Given the description of an element on the screen output the (x, y) to click on. 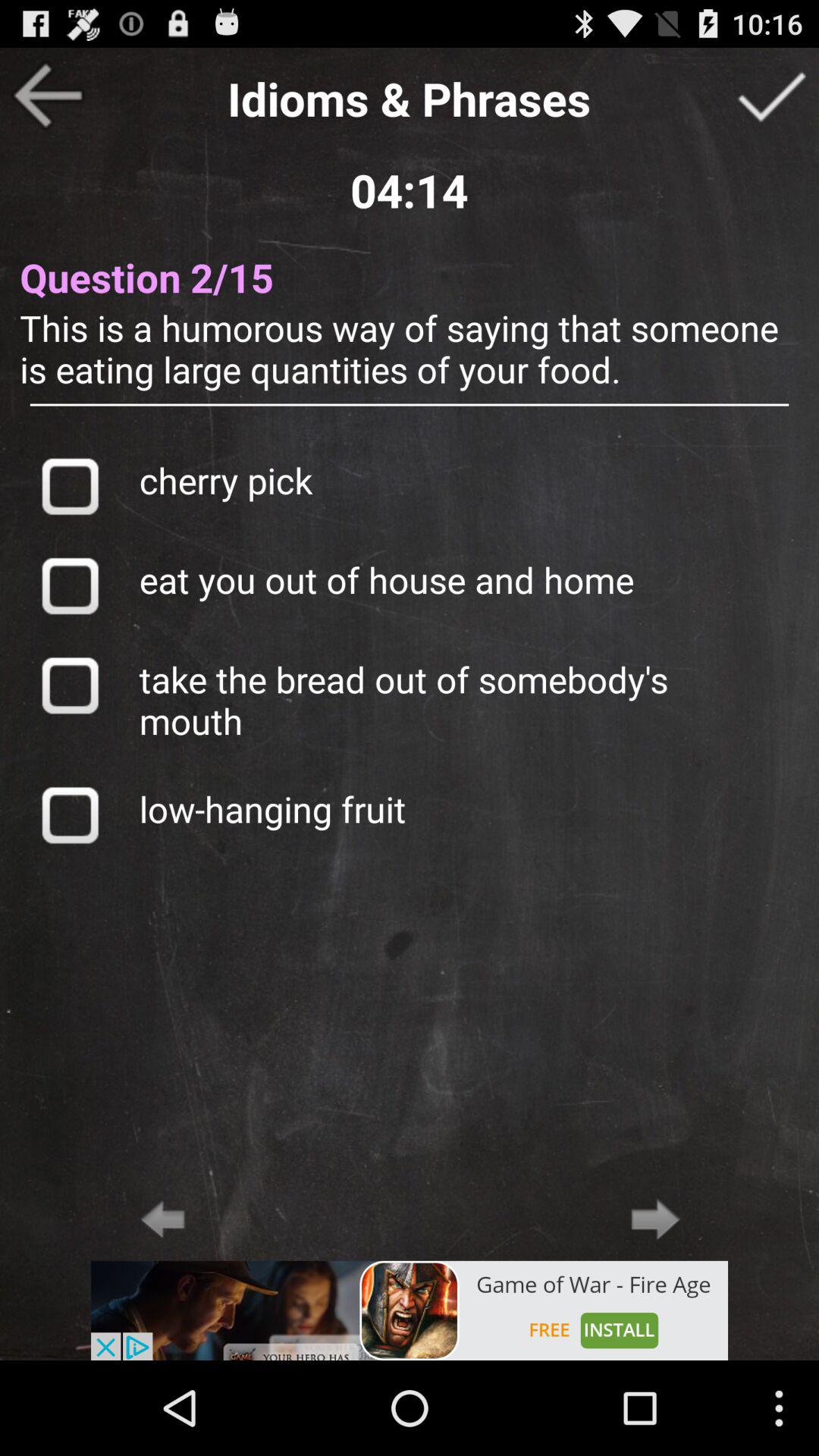
a link to an advertisement (409, 1310)
